Given the description of an element on the screen output the (x, y) to click on. 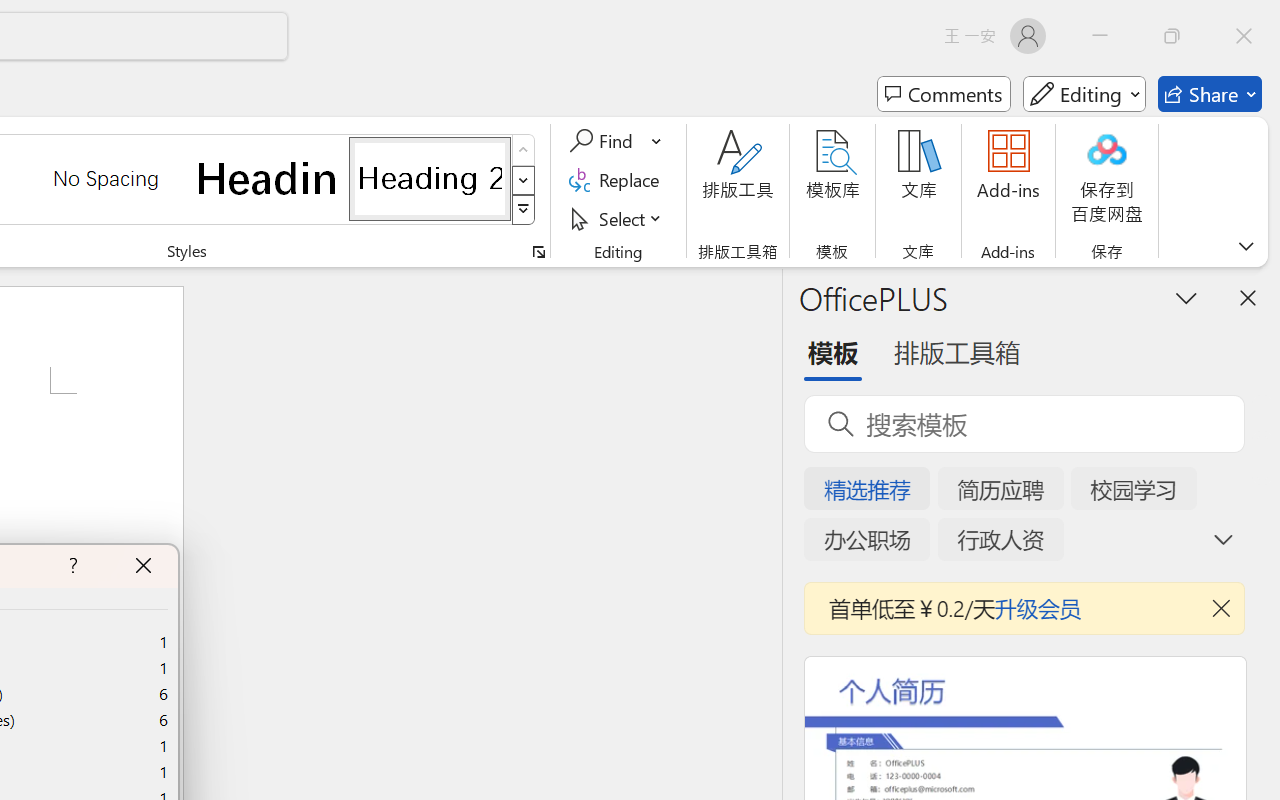
Class: NetUIImage (523, 210)
Close (1244, 36)
More Options (657, 141)
Share (1210, 94)
Replace... (617, 179)
Heading 1 (267, 178)
Find (604, 141)
Comments (943, 94)
